Given the description of an element on the screen output the (x, y) to click on. 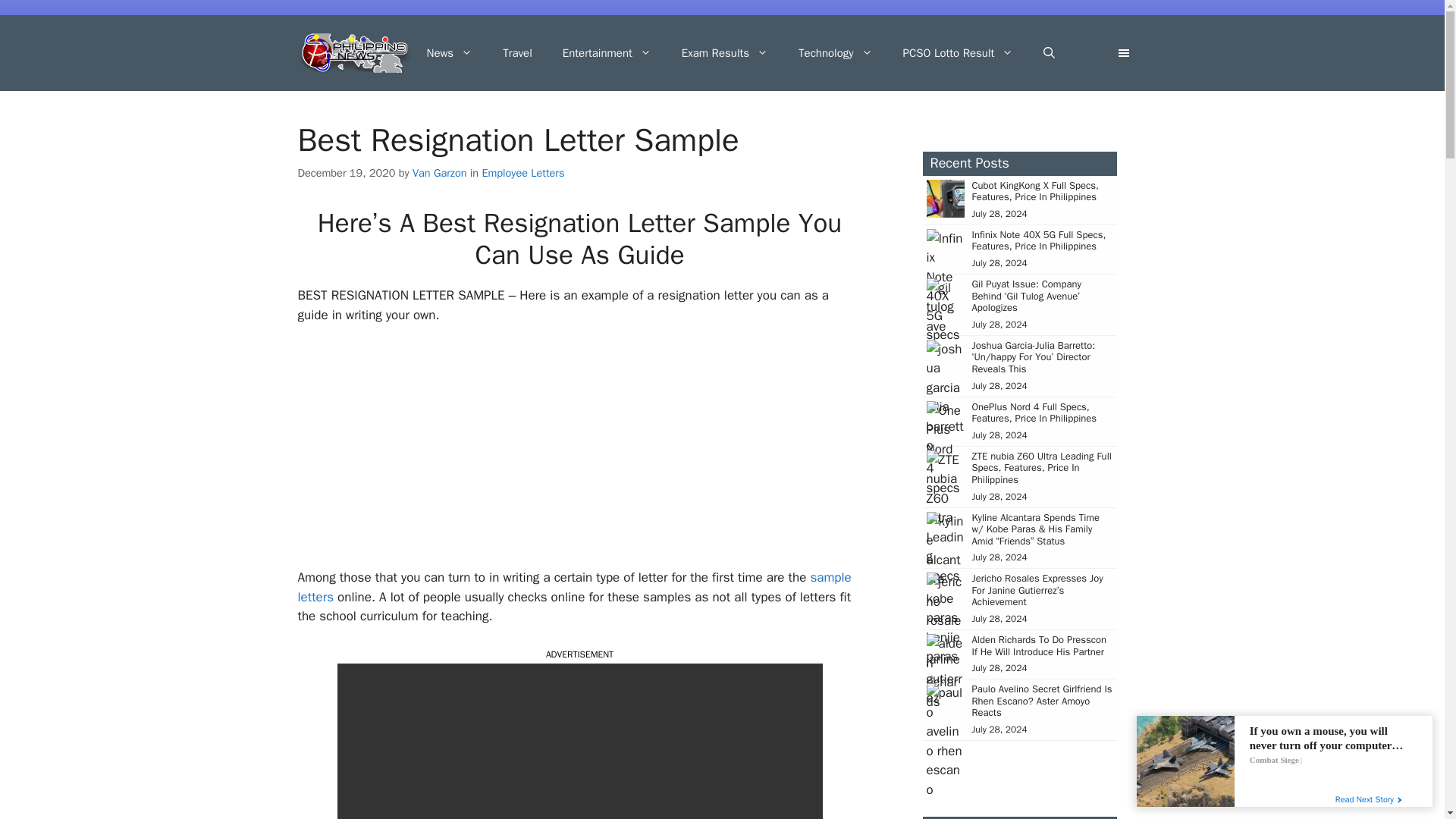
View all posts by Van Garzon (439, 172)
Entertainment (606, 53)
Advertisement (579, 449)
Travel (517, 53)
Exam Results (724, 53)
News (448, 53)
